Given the description of an element on the screen output the (x, y) to click on. 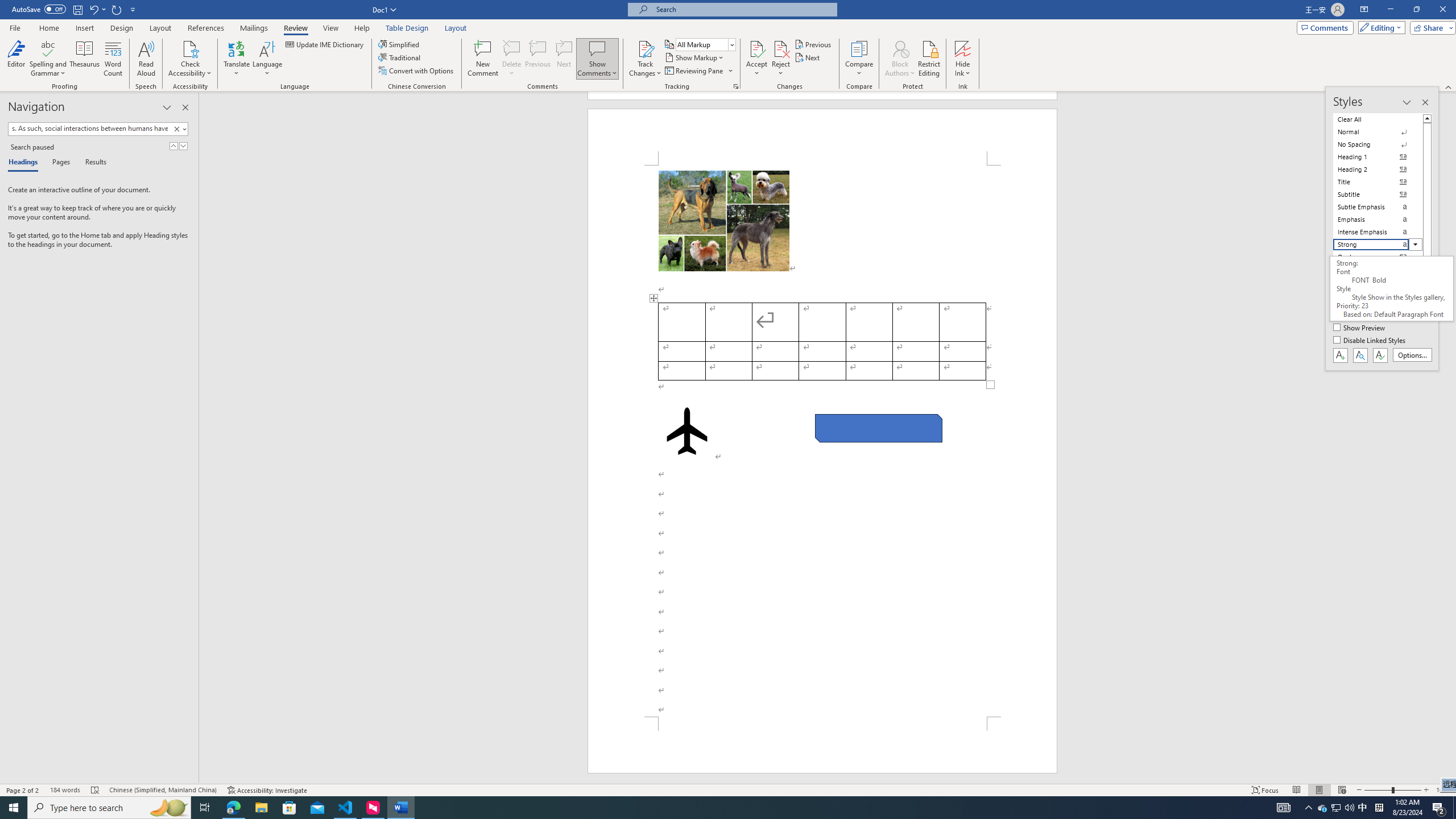
Translate (236, 58)
Airplane with solid fill (686, 430)
Reviewing Pane (694, 69)
Search document (89, 128)
Class: MsoCommandBar (728, 45)
Page Number Page 2 of 2 (22, 790)
Spelling and Grammar (48, 48)
Restrict Editing (929, 58)
Strong (1377, 244)
Clear (176, 128)
